Given the description of an element on the screen output the (x, y) to click on. 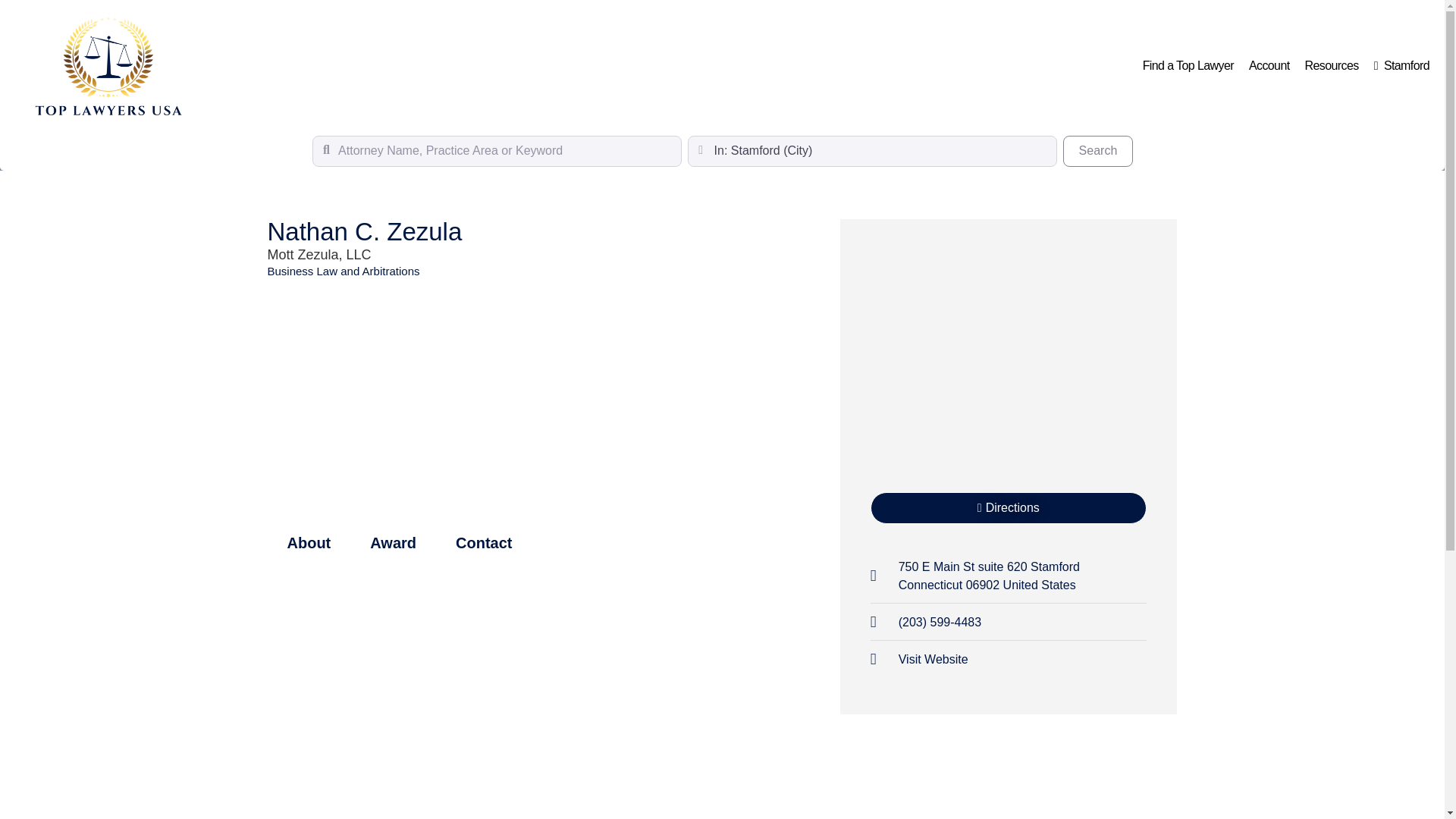
Stamford (1402, 65)
Directions (1008, 508)
Visit Website (919, 659)
Business Law (301, 270)
Arbitrations (391, 270)
Resources (1332, 65)
Find a Top Lawyer (1097, 150)
Account (1188, 65)
